Given the description of an element on the screen output the (x, y) to click on. 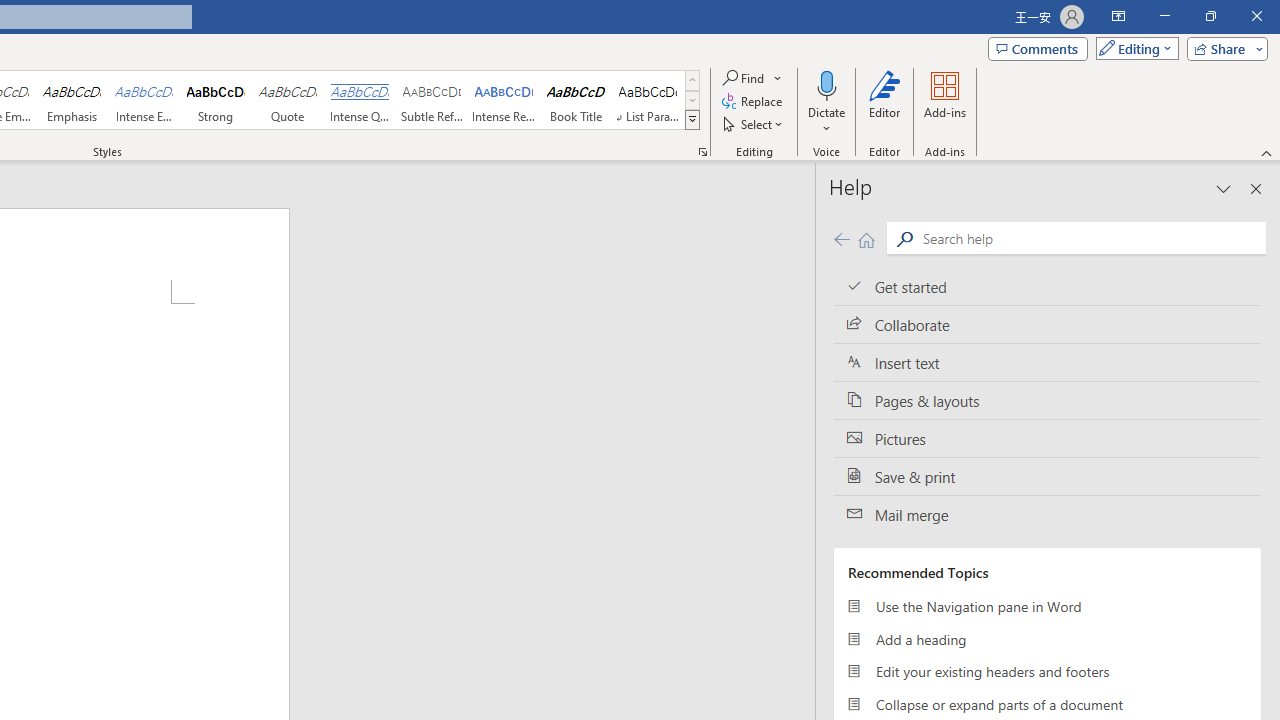
Insert text (1047, 363)
Quote (287, 100)
Select (754, 124)
Intense Emphasis (143, 100)
Strong (216, 100)
Mode (1133, 47)
Get started (1047, 286)
Book Title (575, 100)
Styles (692, 120)
